Given the description of an element on the screen output the (x, y) to click on. 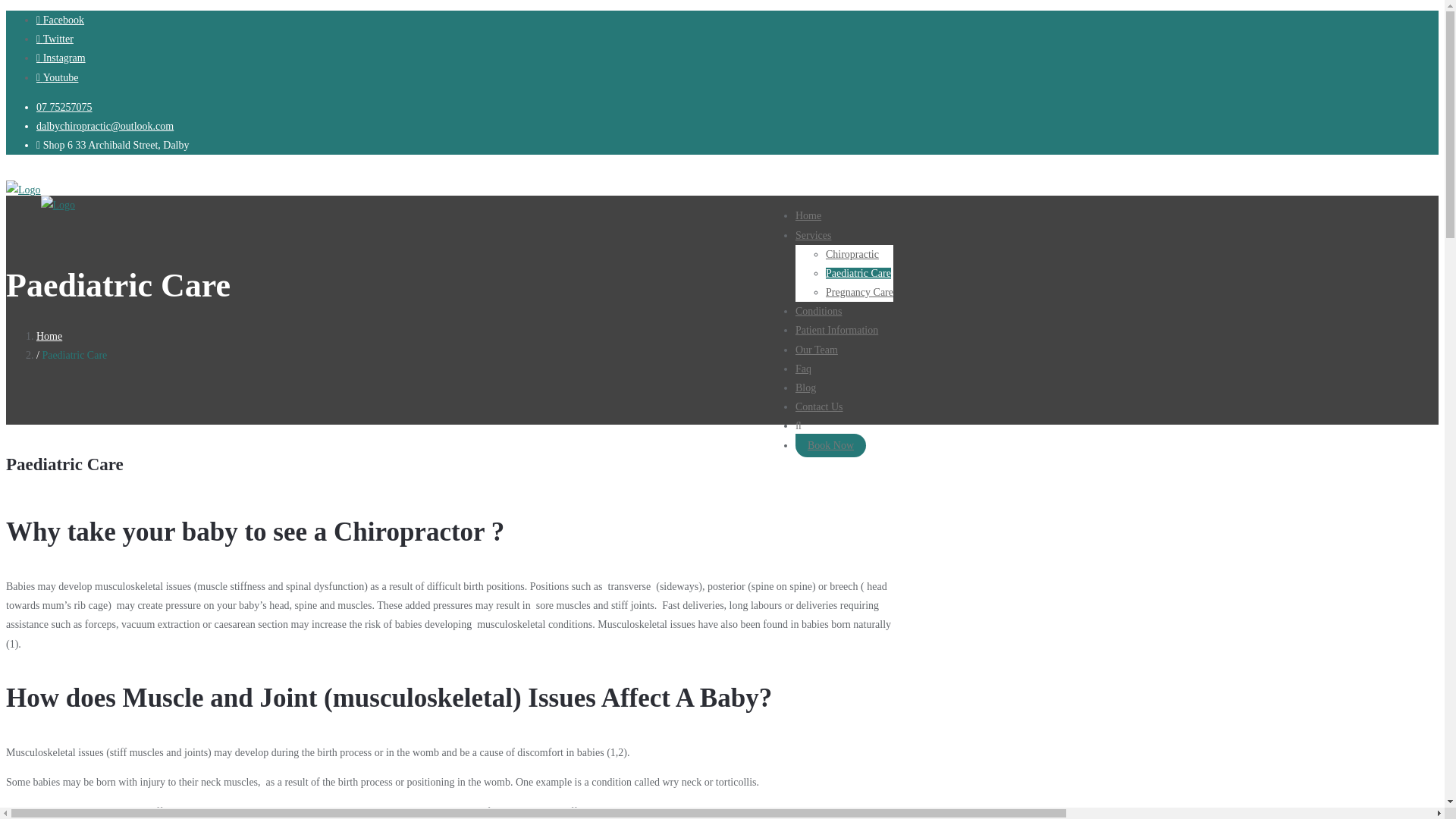
Instagram (60, 57)
Paediatric Care (858, 273)
Chiropractic (852, 254)
Book Now (830, 445)
Home (807, 215)
Our Team (816, 349)
Twitter (55, 39)
Facebook (60, 19)
Pregnancy Care (859, 292)
